Given the description of an element on the screen output the (x, y) to click on. 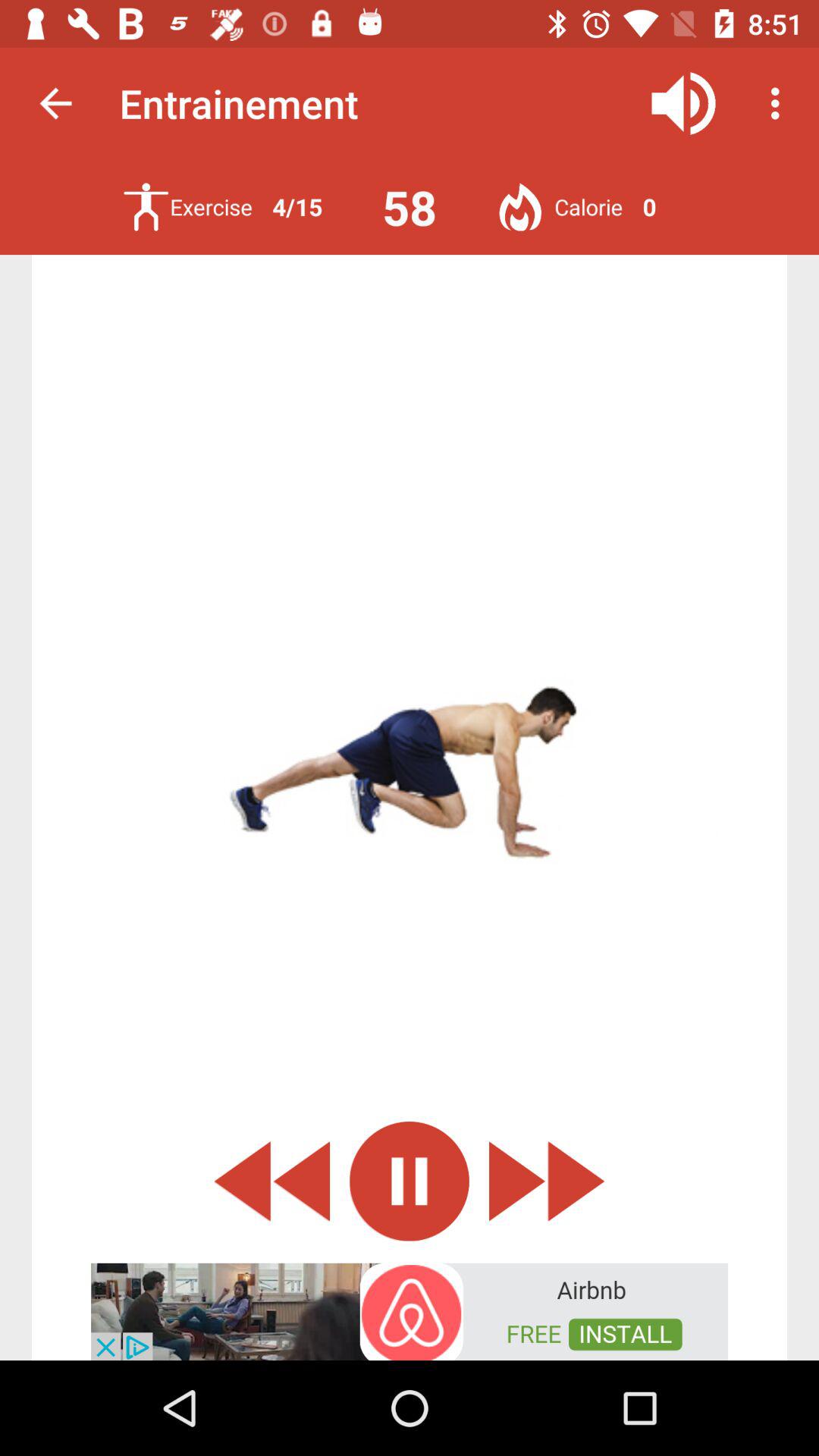
go next option (546, 1181)
